Given the description of an element on the screen output the (x, y) to click on. 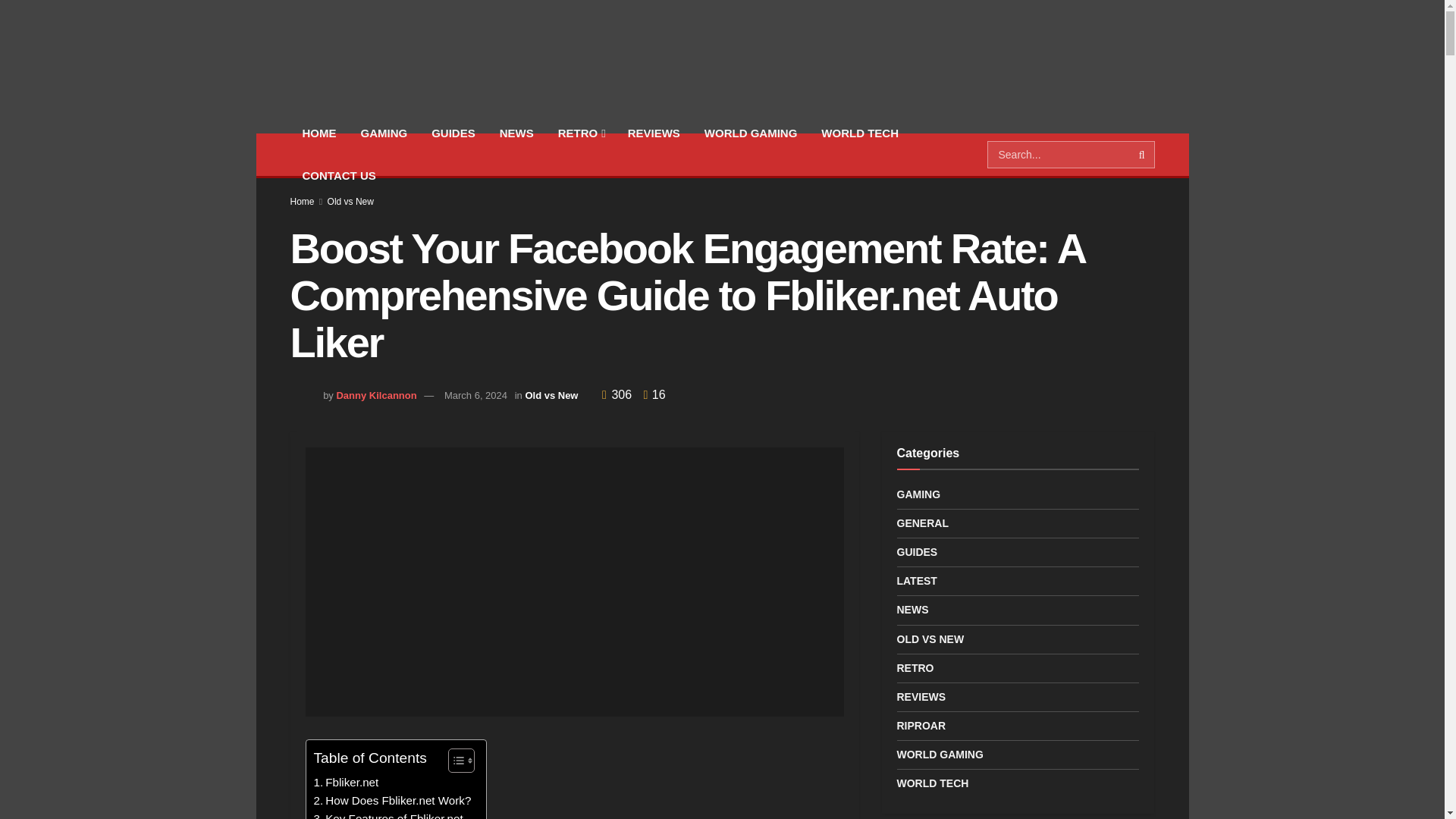
GAMING (384, 133)
March 6, 2024 (475, 395)
GUIDES (453, 133)
Key Features of Fbliker.net (388, 814)
WORLD TECH (860, 133)
How Does Fbliker.net Work? (392, 800)
CONTACT US (338, 175)
Fbliker.net (346, 782)
REVIEWS (654, 133)
How Does Fbliker.net Work? (392, 800)
Old vs New (350, 201)
306 (618, 394)
HOME (318, 133)
NEWS (516, 133)
Fbliker.net (346, 782)
